Given the description of an element on the screen output the (x, y) to click on. 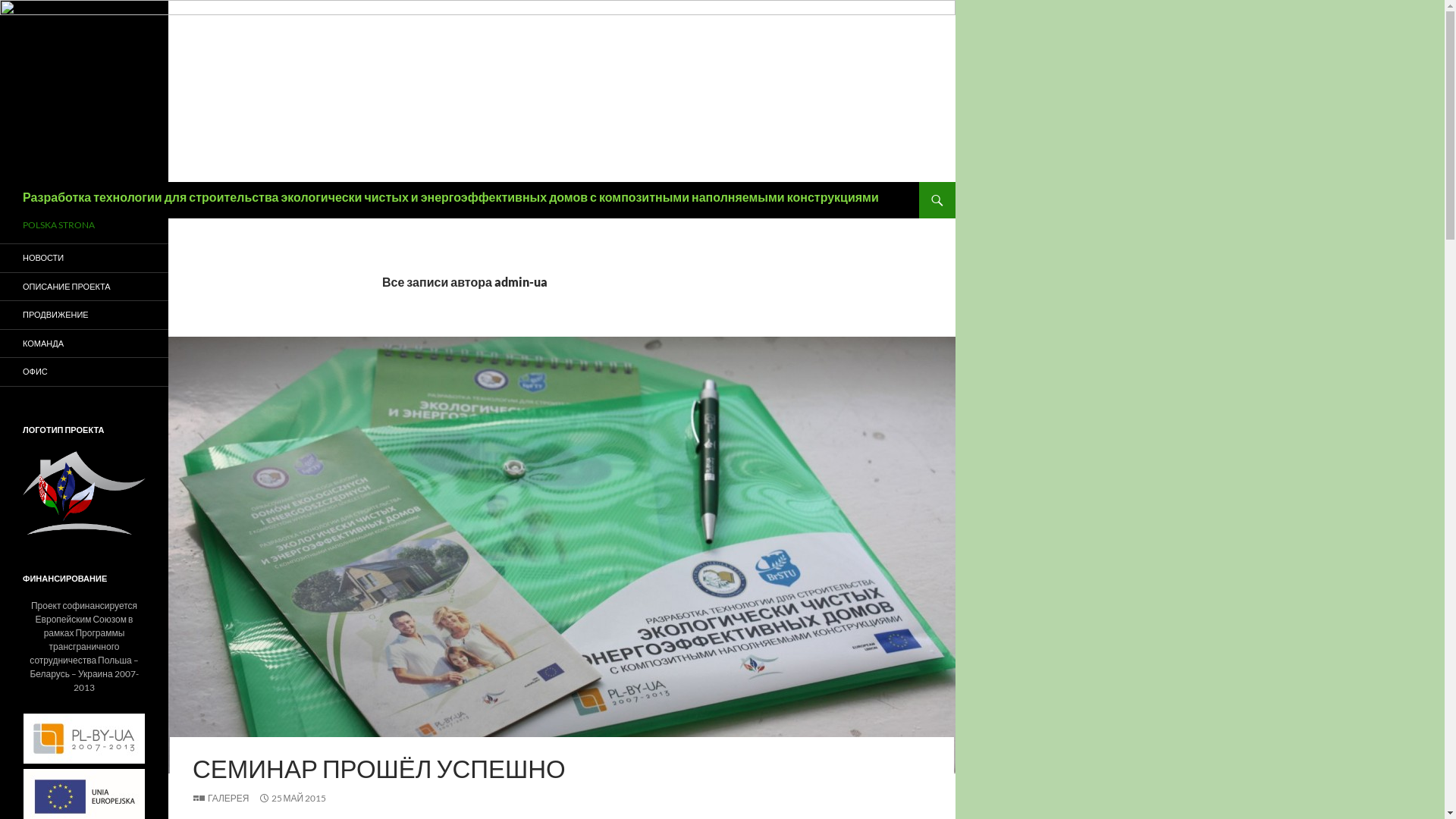
POLSKA STRONA Element type: text (83, 225)
